Given the description of an element on the screen output the (x, y) to click on. 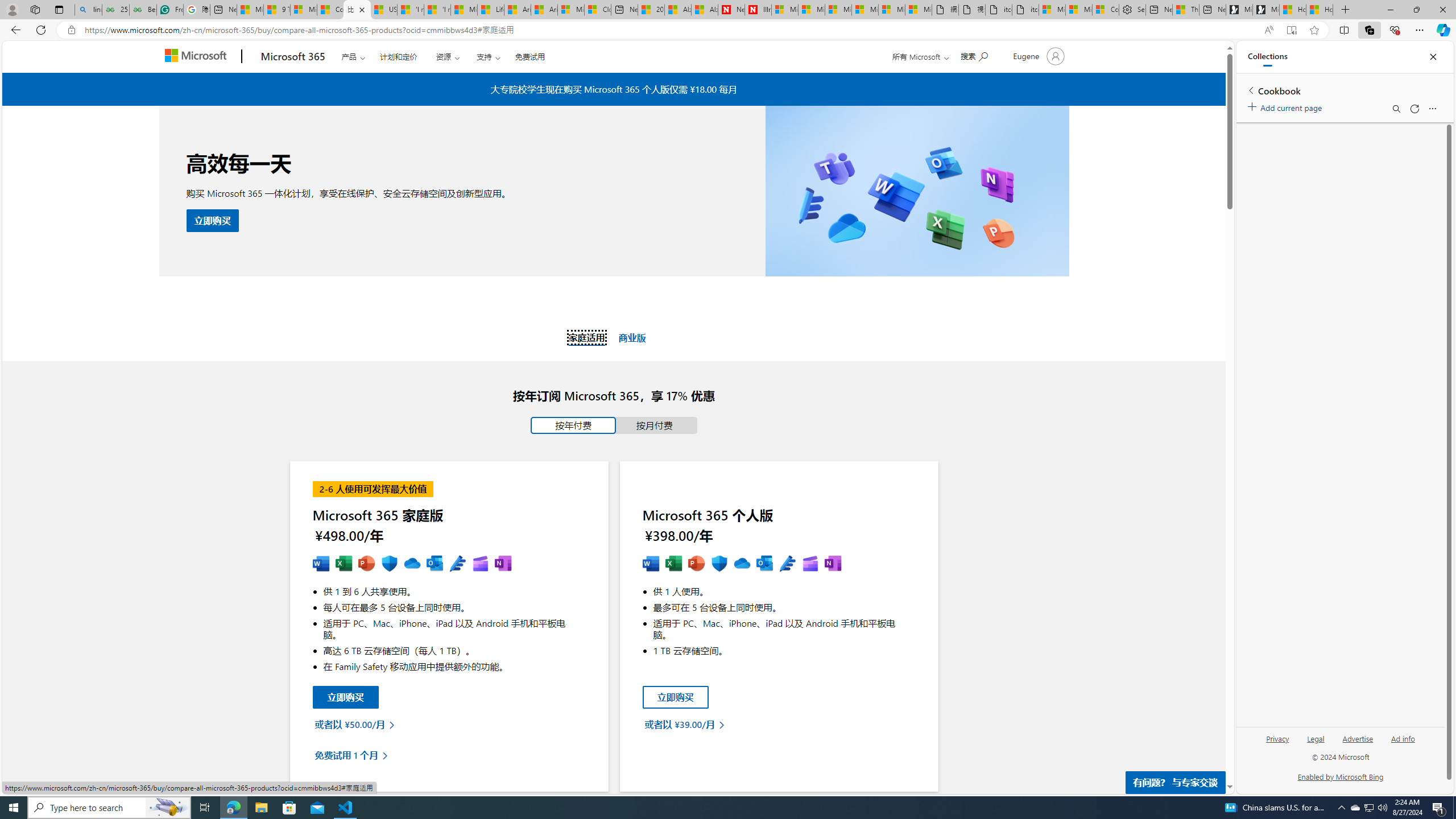
Illness news & latest pictures from Newsweek.com (757, 9)
itconcepthk.com/projector_solutions.mp4 (1025, 9)
More options menu (1432, 108)
